Given the description of an element on the screen output the (x, y) to click on. 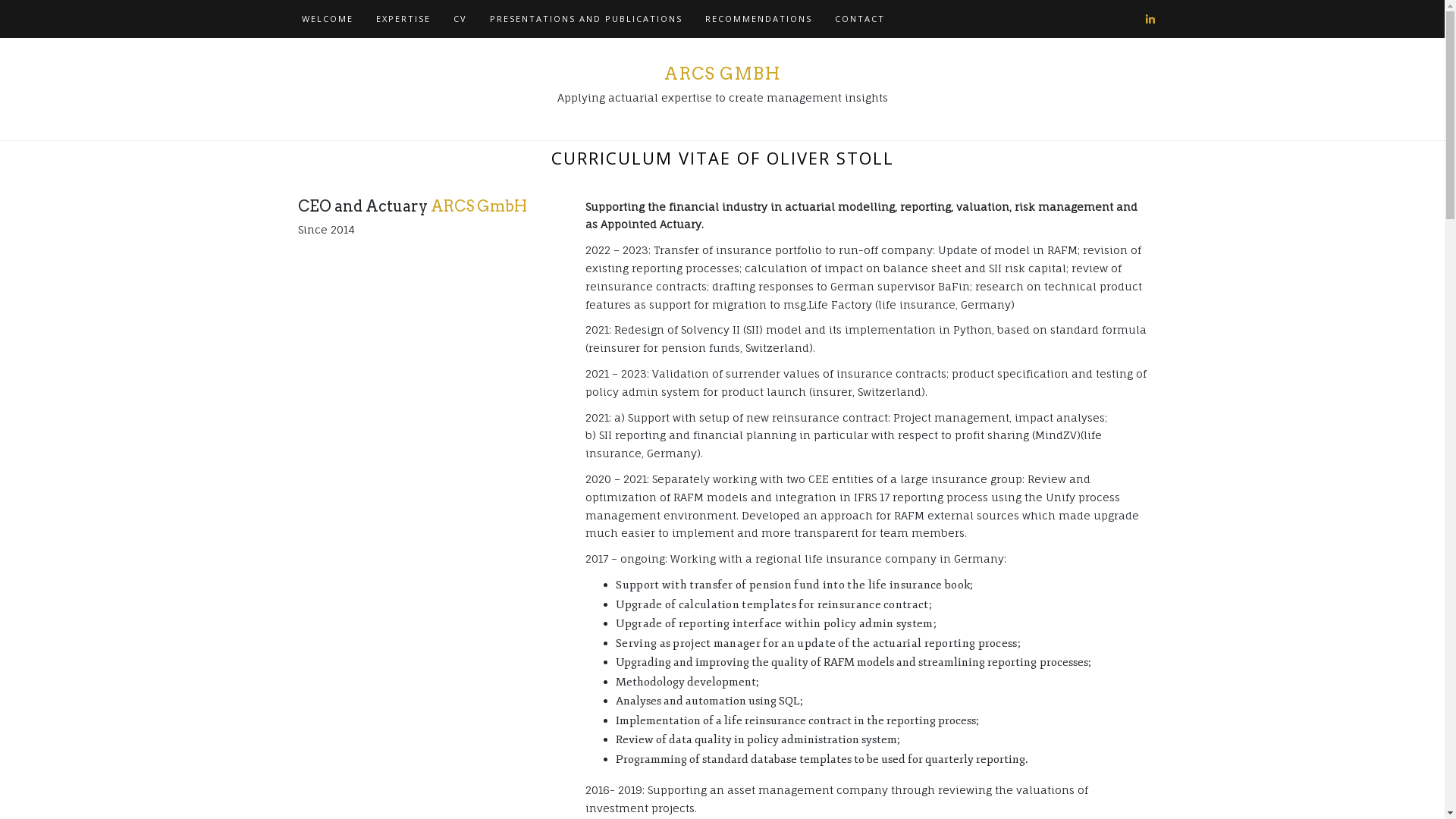
WELCOME Element type: text (326, 18)
RECOMMENDATIONS Element type: text (757, 18)
PRESENTATIONS AND PUBLICATIONS Element type: text (585, 18)
CV Element type: text (459, 18)
EXPERTISE Element type: text (402, 18)
ARCS GmbH Element type: text (478, 206)
CONTACT Element type: text (859, 18)
ARCS GMBH Element type: text (722, 73)
